Given the description of an element on the screen output the (x, y) to click on. 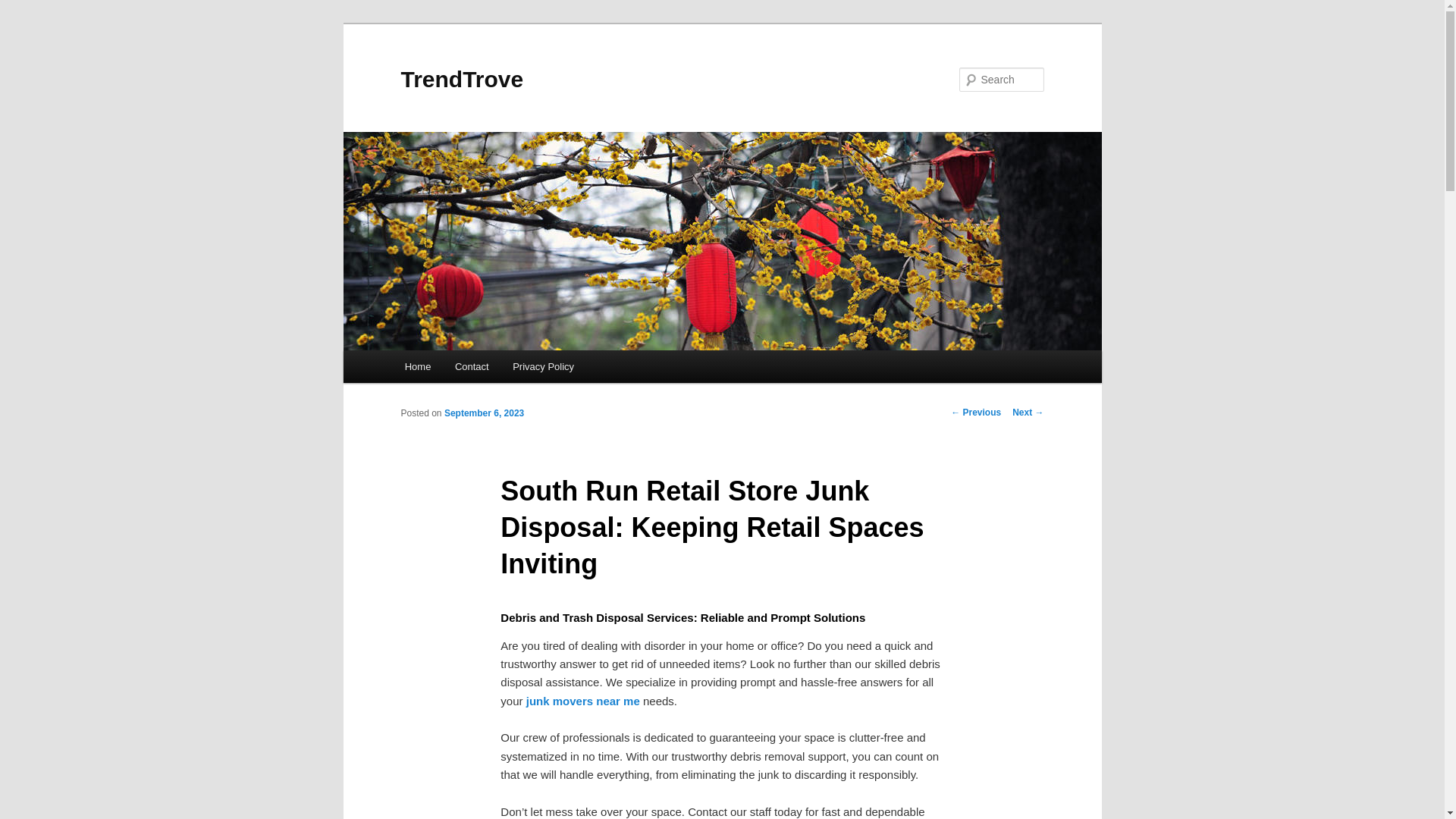
junk movers near me (582, 700)
Contact (471, 366)
Search (24, 8)
Home (417, 366)
September 6, 2023 (484, 412)
2:11 pm (484, 412)
Privacy Policy (542, 366)
TrendTrove (461, 78)
